Given the description of an element on the screen output the (x, y) to click on. 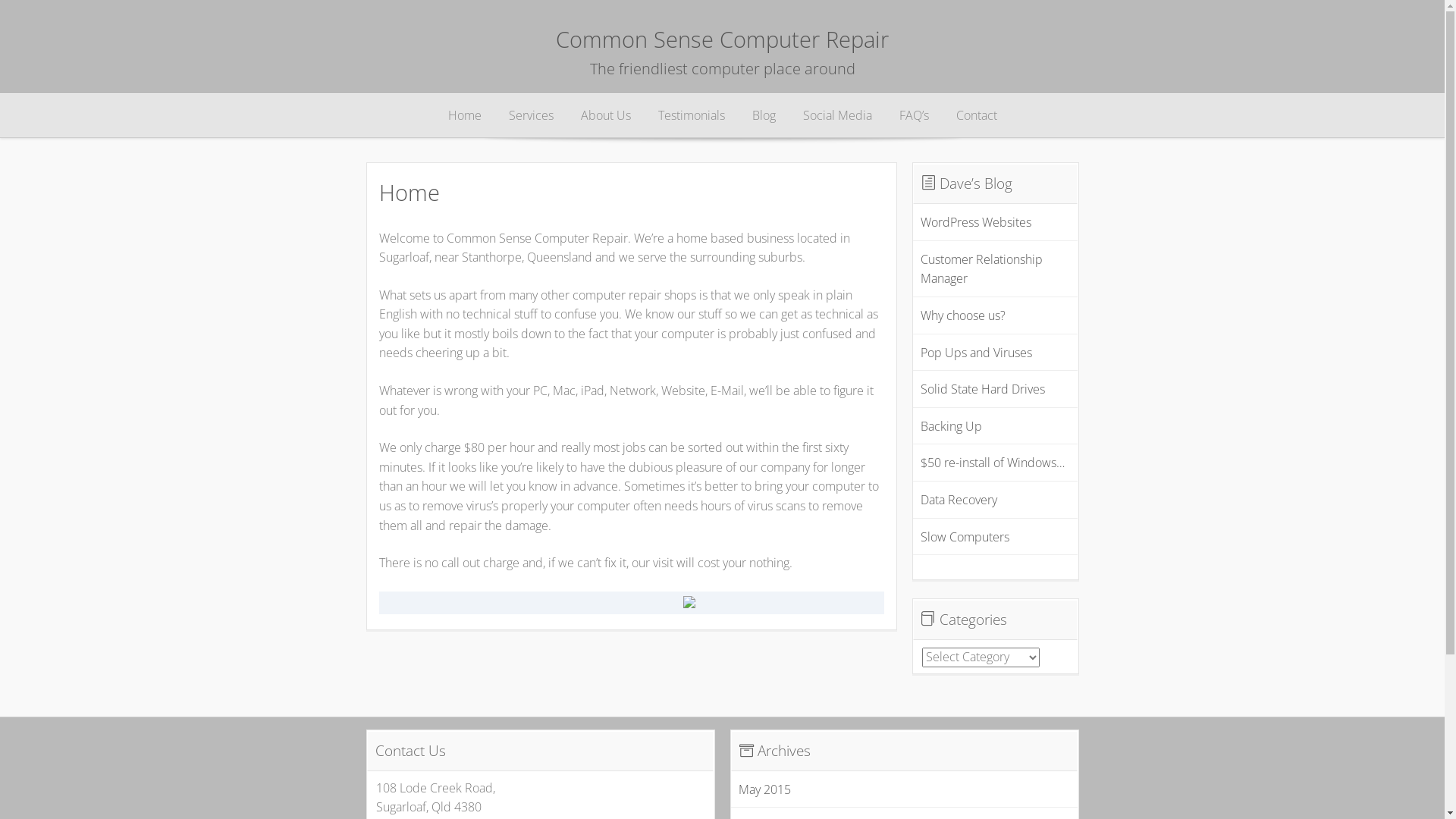
Skip to content Element type: text (410, 116)
Slow Computers Element type: text (964, 536)
Blog Element type: text (763, 116)
Home Element type: text (463, 116)
About Us Element type: text (605, 116)
WordPress Websites Element type: text (975, 221)
Why choose us? Element type: text (962, 315)
Social Media Element type: text (836, 116)
Solid State Hard Drives Element type: text (982, 388)
Data Recovery Element type: text (958, 499)
Common Sense Computer Repair Element type: text (721, 38)
Contact Element type: text (975, 116)
Backing Up Element type: text (951, 425)
Customer Relationship Manager Element type: text (981, 269)
Pop Ups and Viruses Element type: text (976, 352)
Testimonials Element type: text (691, 116)
May 2015 Element type: text (764, 789)
Services Element type: text (529, 116)
